Given the description of an element on the screen output the (x, y) to click on. 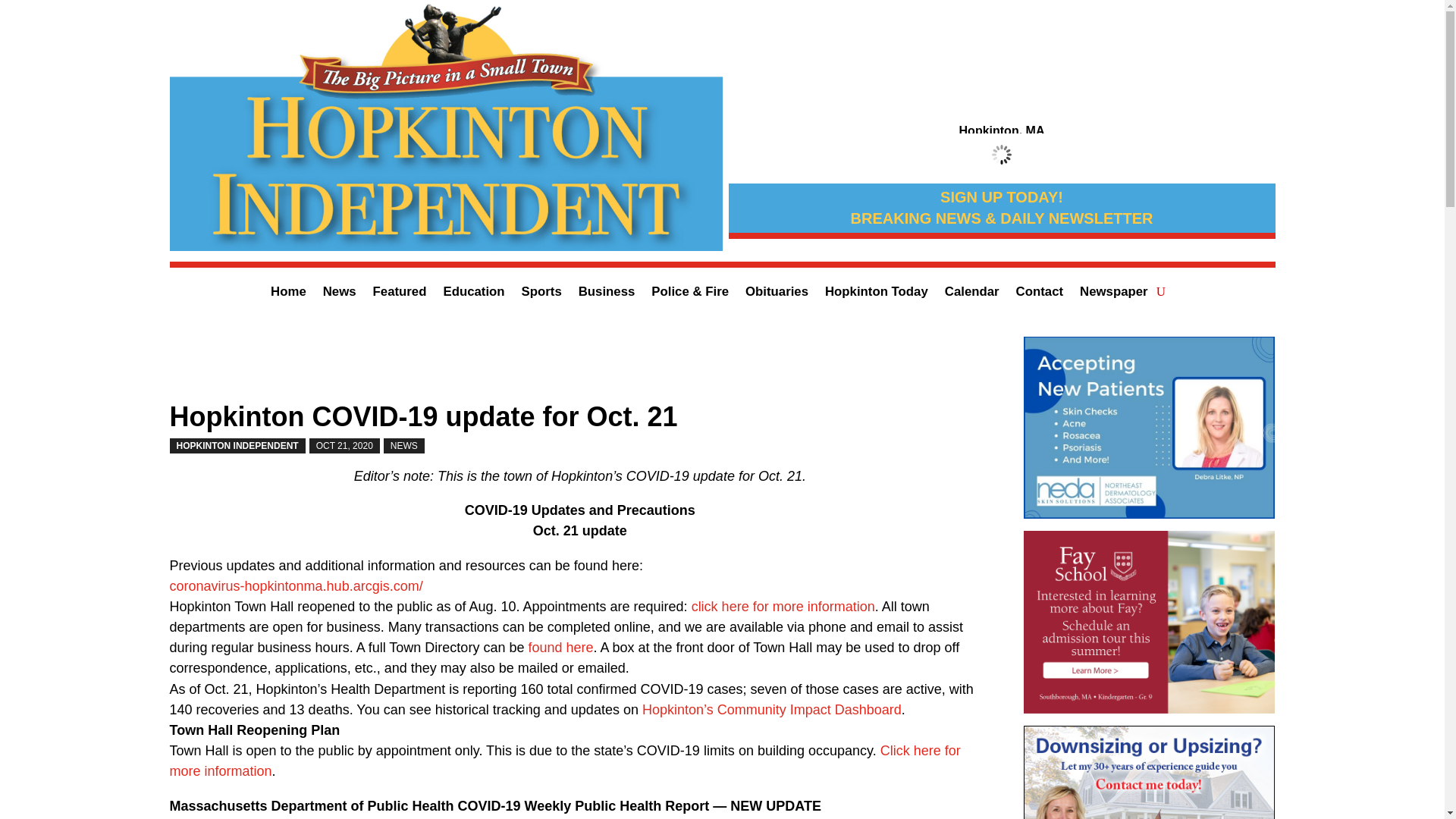
Page 1 (580, 638)
Obituaries (776, 294)
Page 1 (580, 769)
Hopkinton Today (876, 294)
HOPKINTON INDEPENDENT (237, 445)
Posts by Hopkinton Independent (237, 445)
Contact (1039, 294)
Home (287, 294)
Sports (541, 294)
